Given the description of an element on the screen output the (x, y) to click on. 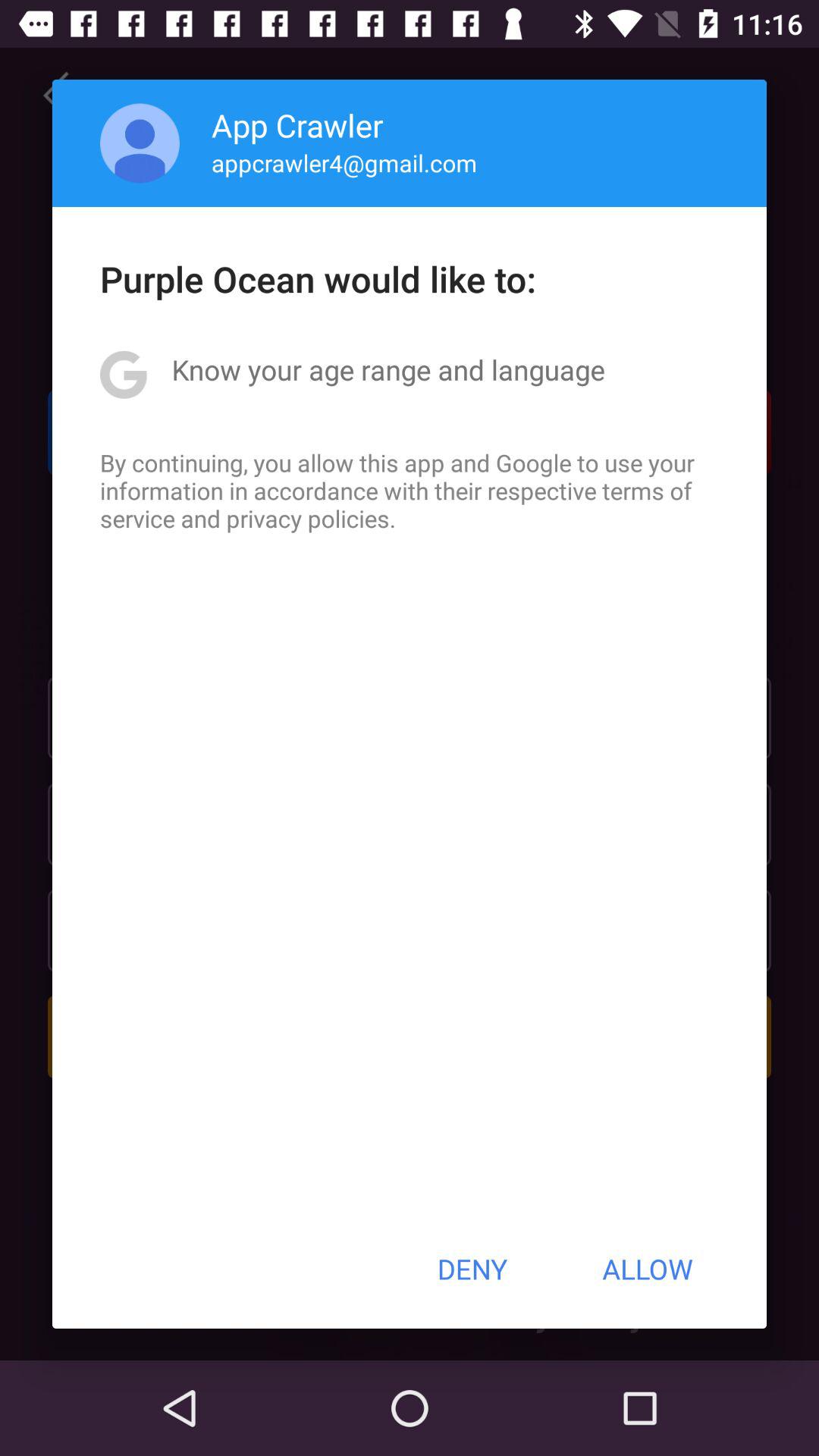
click the item below the app crawler app (344, 162)
